Given the description of an element on the screen output the (x, y) to click on. 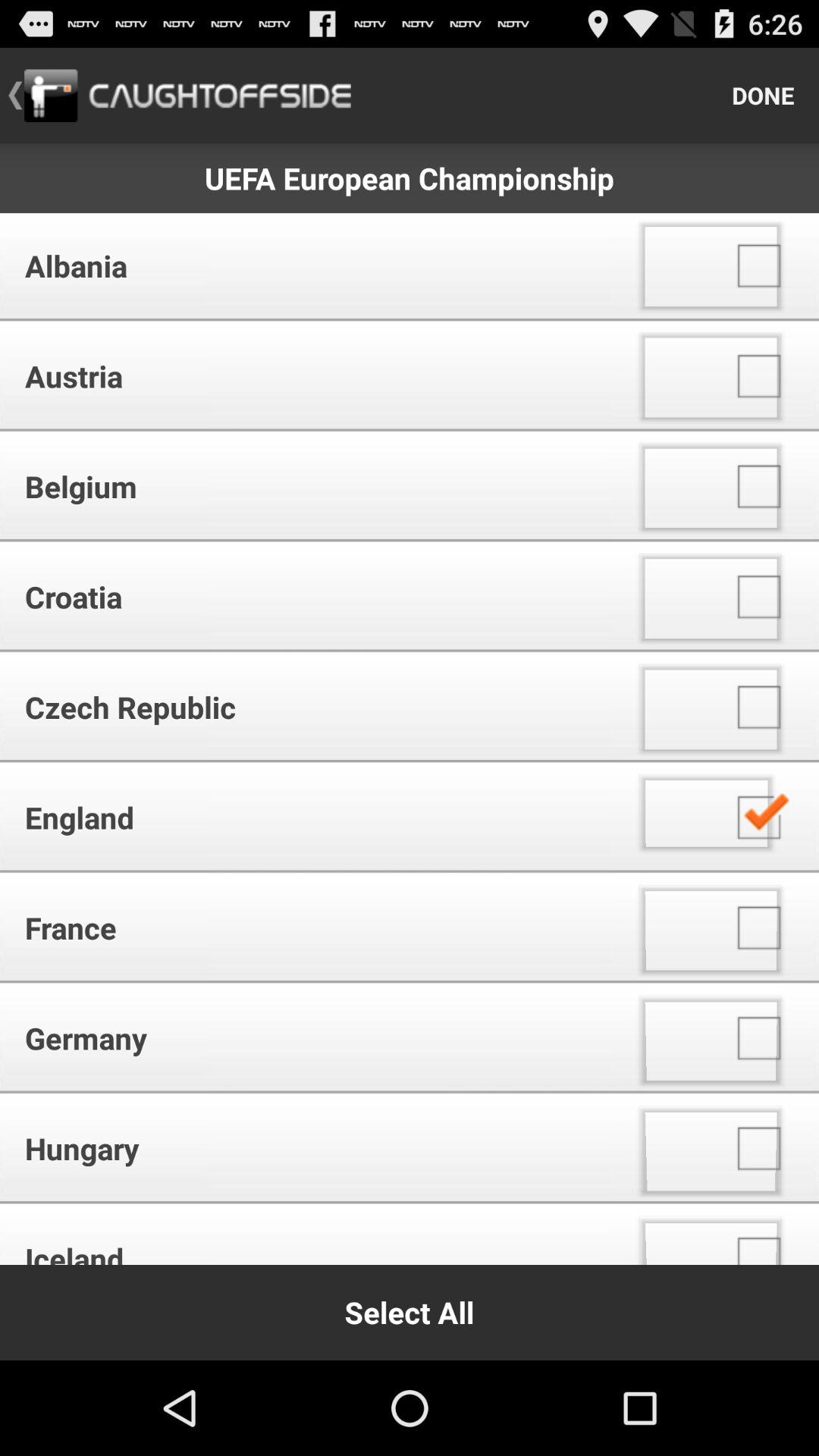
select the hungary icon (311, 1148)
